Given the description of an element on the screen output the (x, y) to click on. 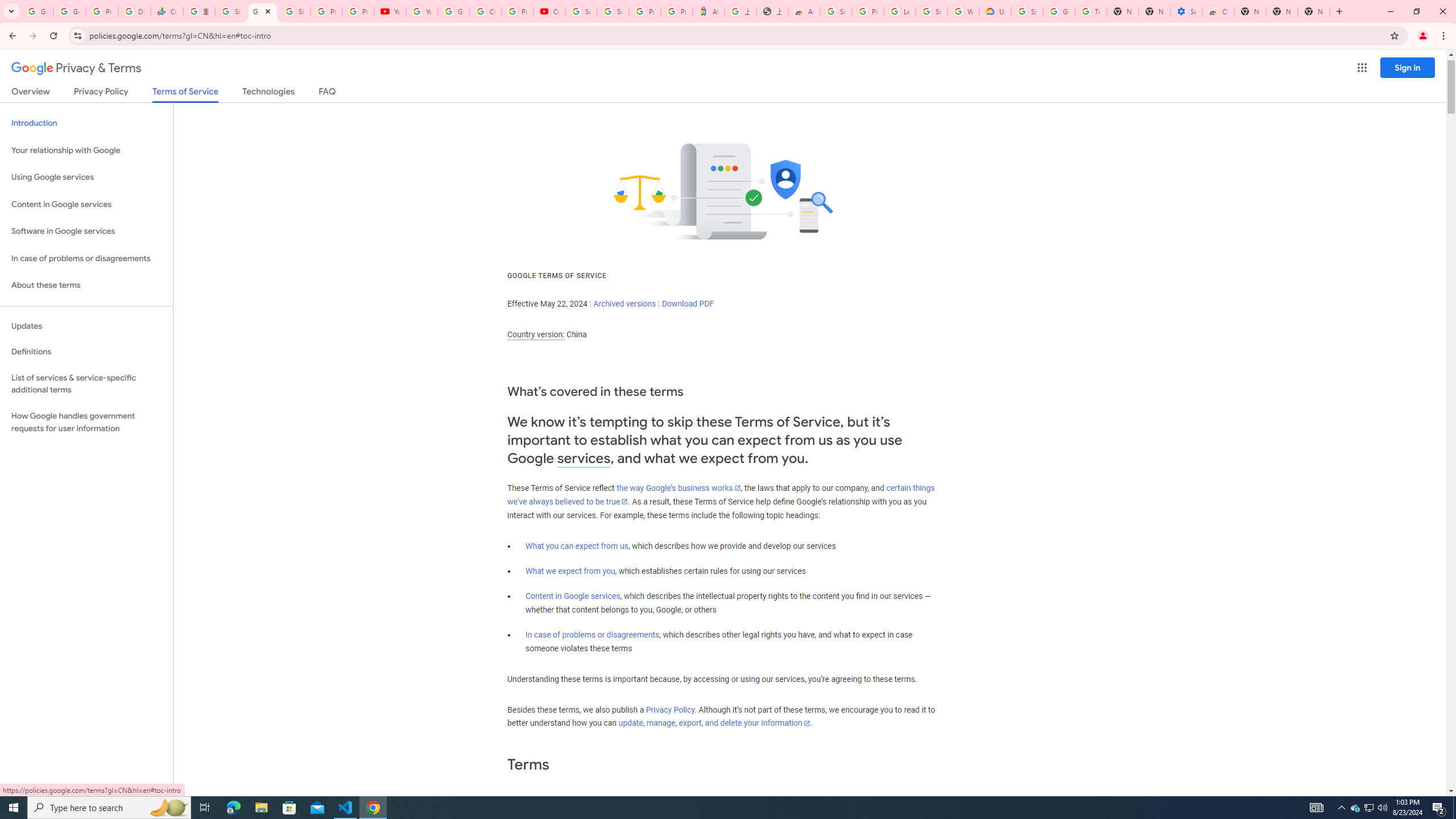
Google Account Help (453, 11)
List of services & service-specific additional terms (86, 383)
Country version: (535, 334)
New Tab (1249, 11)
In case of problems or disagreements (592, 634)
Archived versions (624, 303)
Create your Google Account (485, 11)
Sign in - Google Accounts (1027, 11)
